Given the description of an element on the screen output the (x, y) to click on. 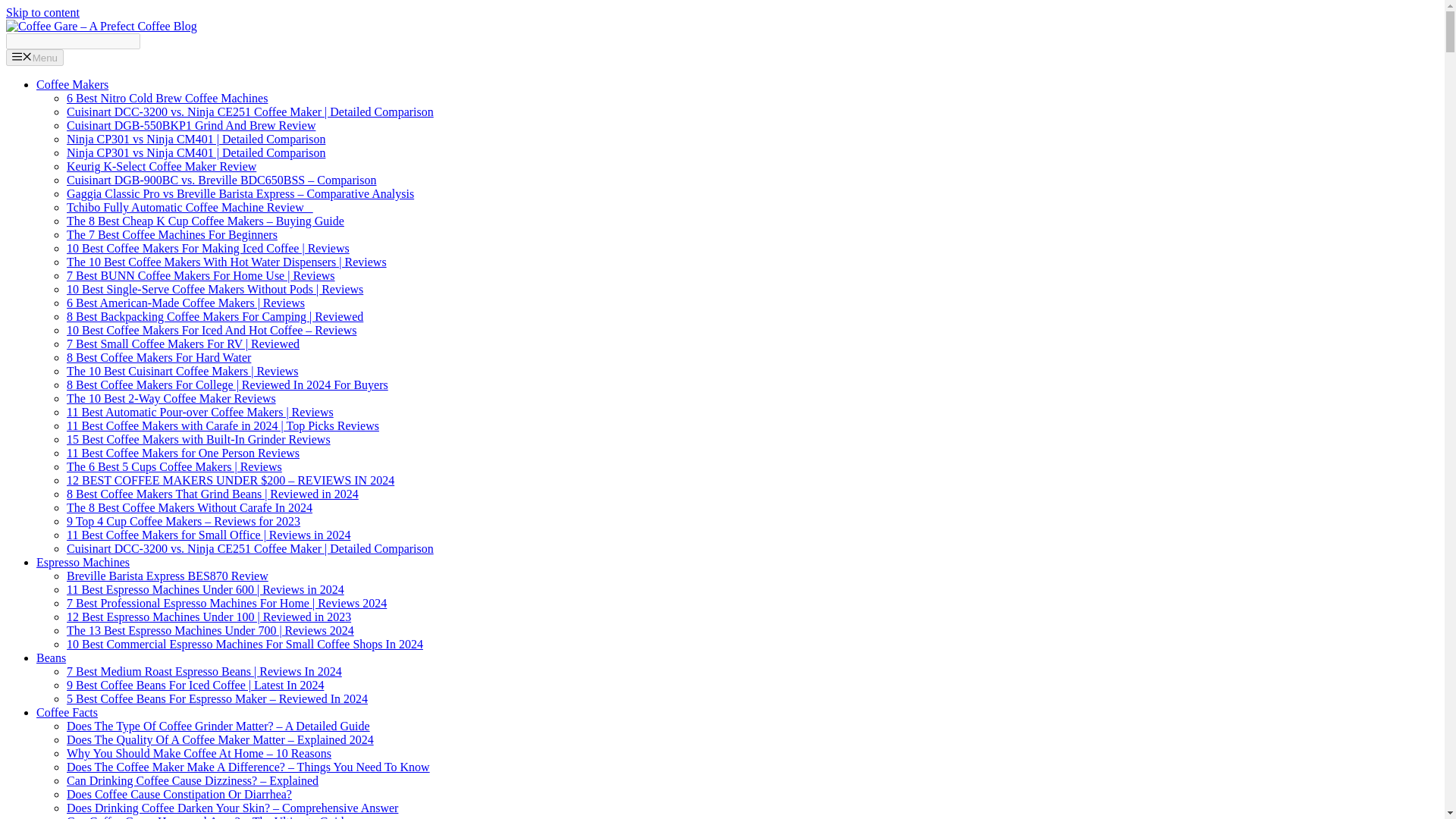
15 Best Coffee Makers with Built-In Grinder Reviews (198, 439)
Tchibo Fully Automatic Coffee Machine Review    (189, 206)
Cuisinart DGB-550BKP1 Grind And Brew Review (190, 124)
Menu (34, 57)
The 8 Best Coffee Makers Without Carafe In 2024 (189, 507)
Search (72, 41)
The 10 Best 2-Way Coffee Maker Reviews (171, 398)
Keurig K-Select Coffee Maker Review (161, 165)
8 Best Coffee Makers For Hard Water (158, 357)
Skip to content (42, 11)
